Given the description of an element on the screen output the (x, y) to click on. 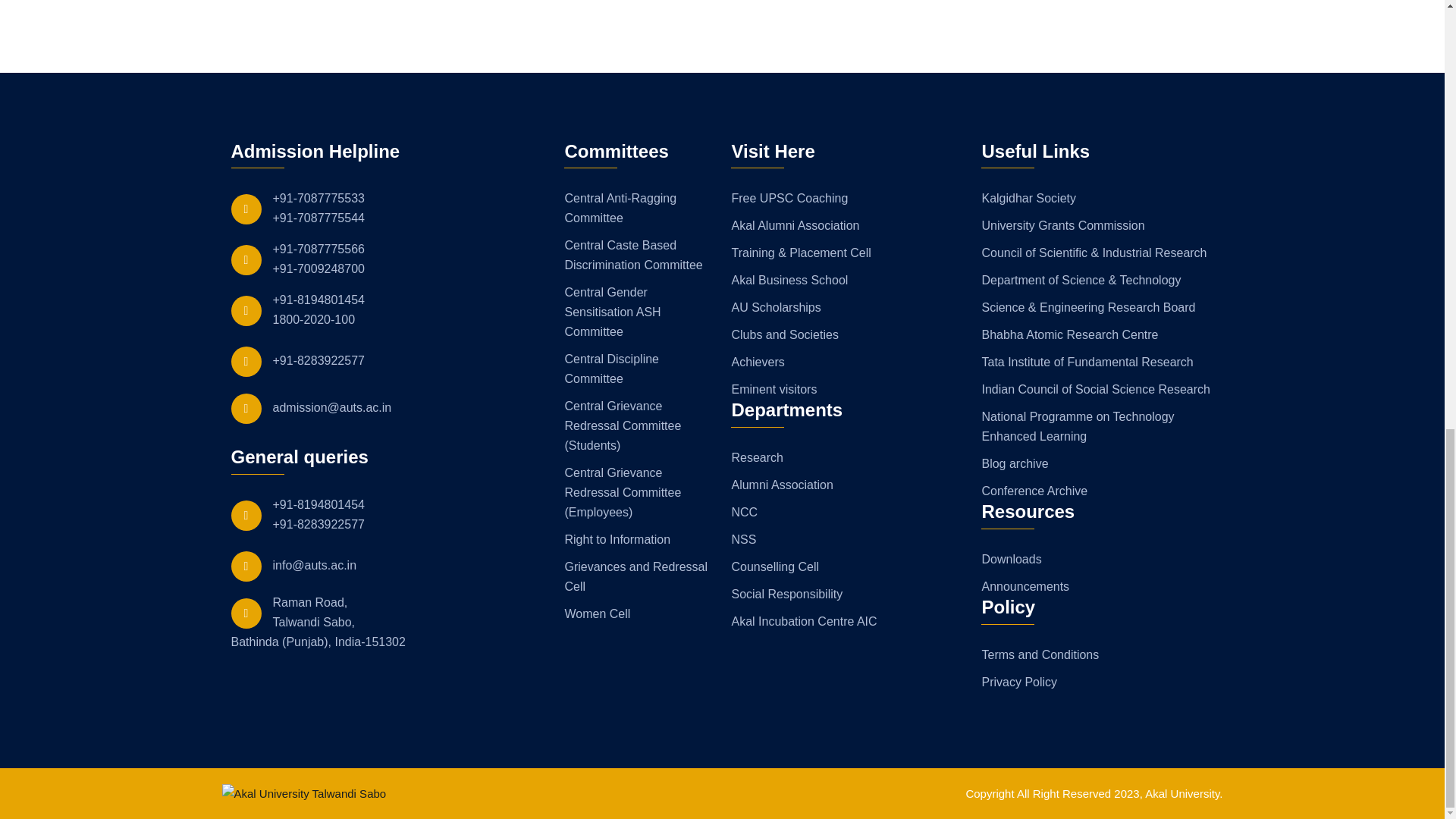
The First Choice Of Toppers (303, 793)
